Given the description of an element on the screen output the (x, y) to click on. 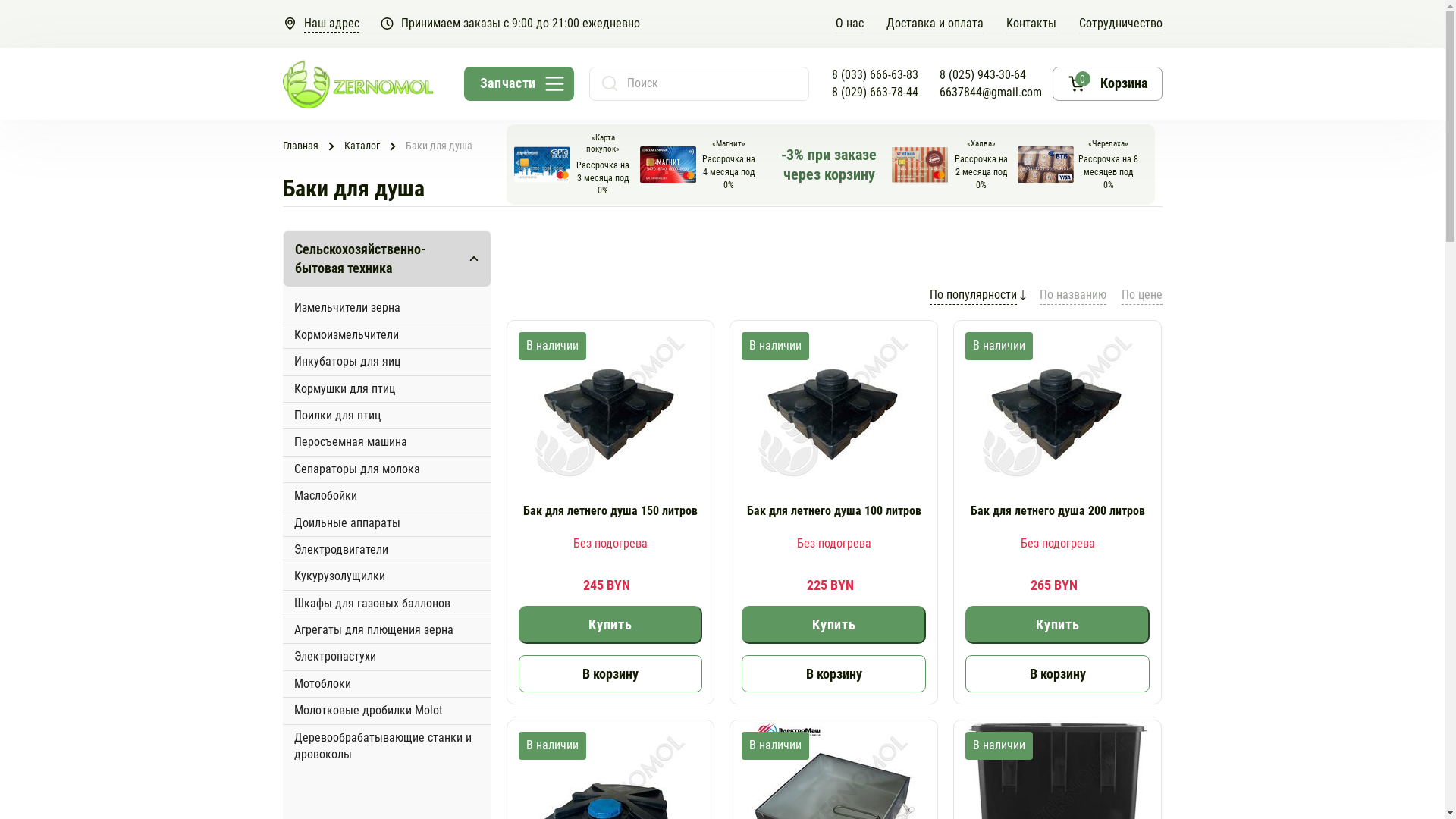
8 (029) 663-78-44 Element type: text (874, 91)
8 (033) 666-63-83 Element type: text (874, 74)
8 (025) 943-30-64 Element type: text (981, 74)
6637844@gmail.com Element type: text (989, 91)
